Given the description of an element on the screen output the (x, y) to click on. 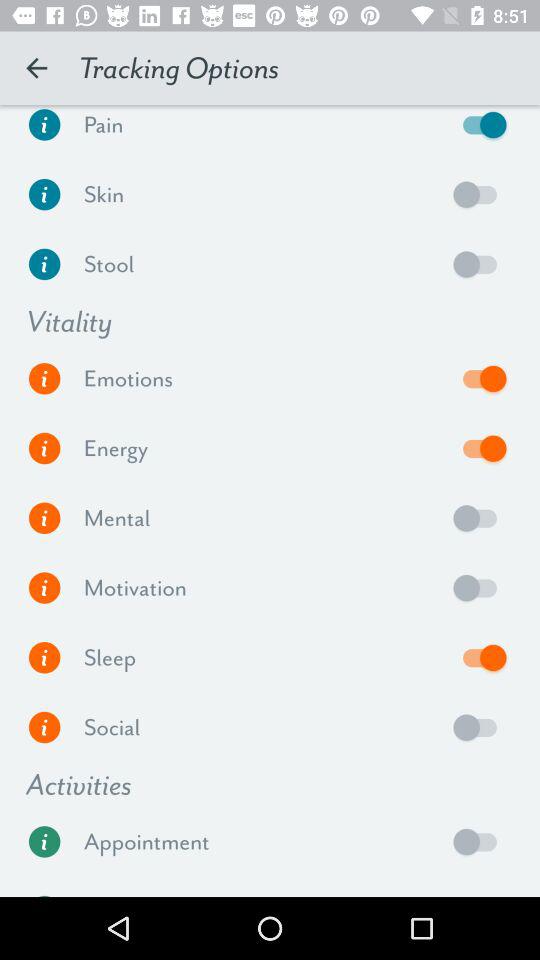
go stool (44, 263)
